Given the description of an element on the screen output the (x, y) to click on. 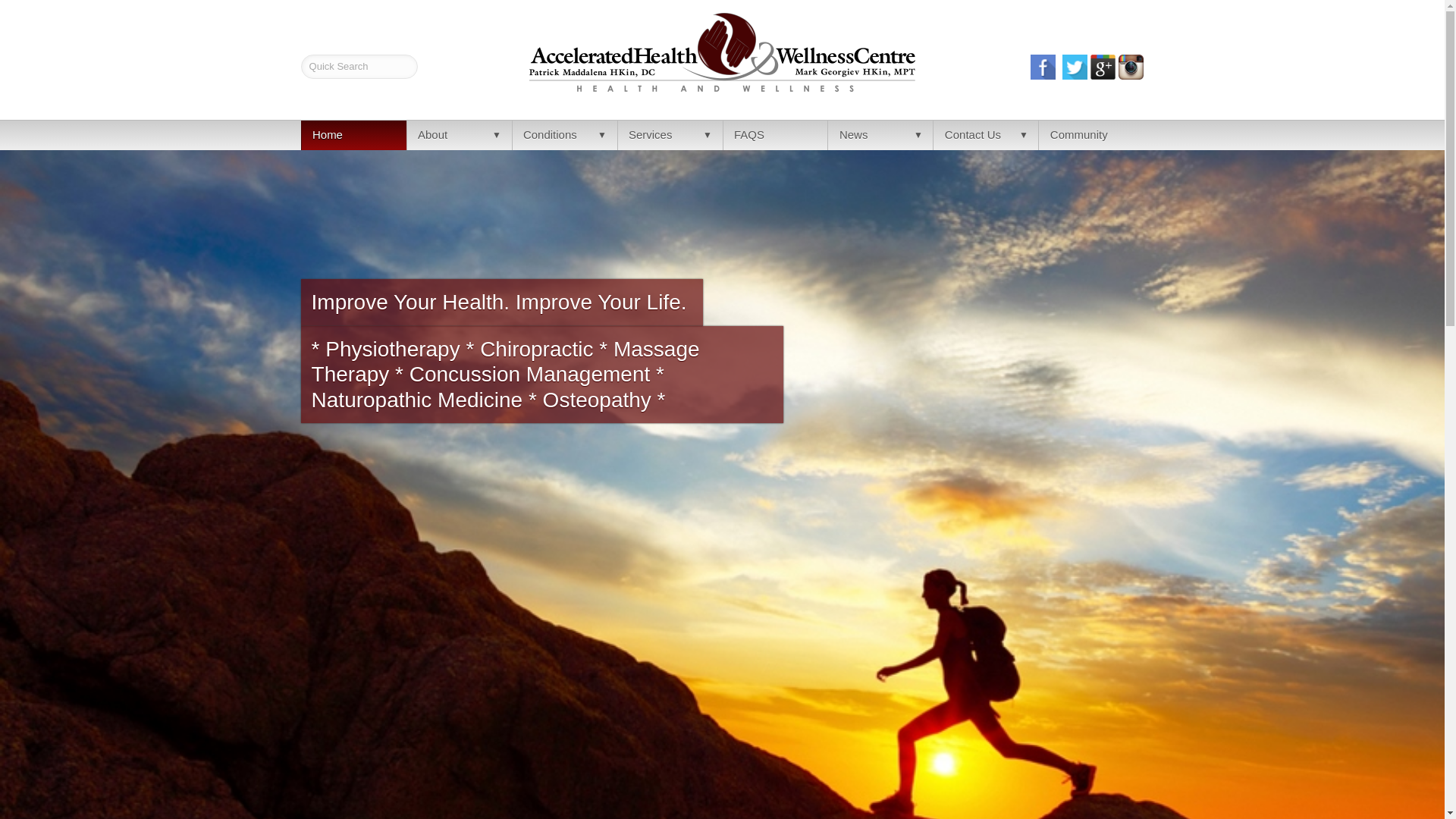
Contact Us (985, 134)
Accelerated Health (353, 134)
Quick Search (359, 66)
Services (669, 134)
Home (353, 134)
About (459, 134)
Quick Search (359, 66)
Community (1090, 134)
Treatable Conditions (564, 134)
News (880, 134)
